Given the description of an element on the screen output the (x, y) to click on. 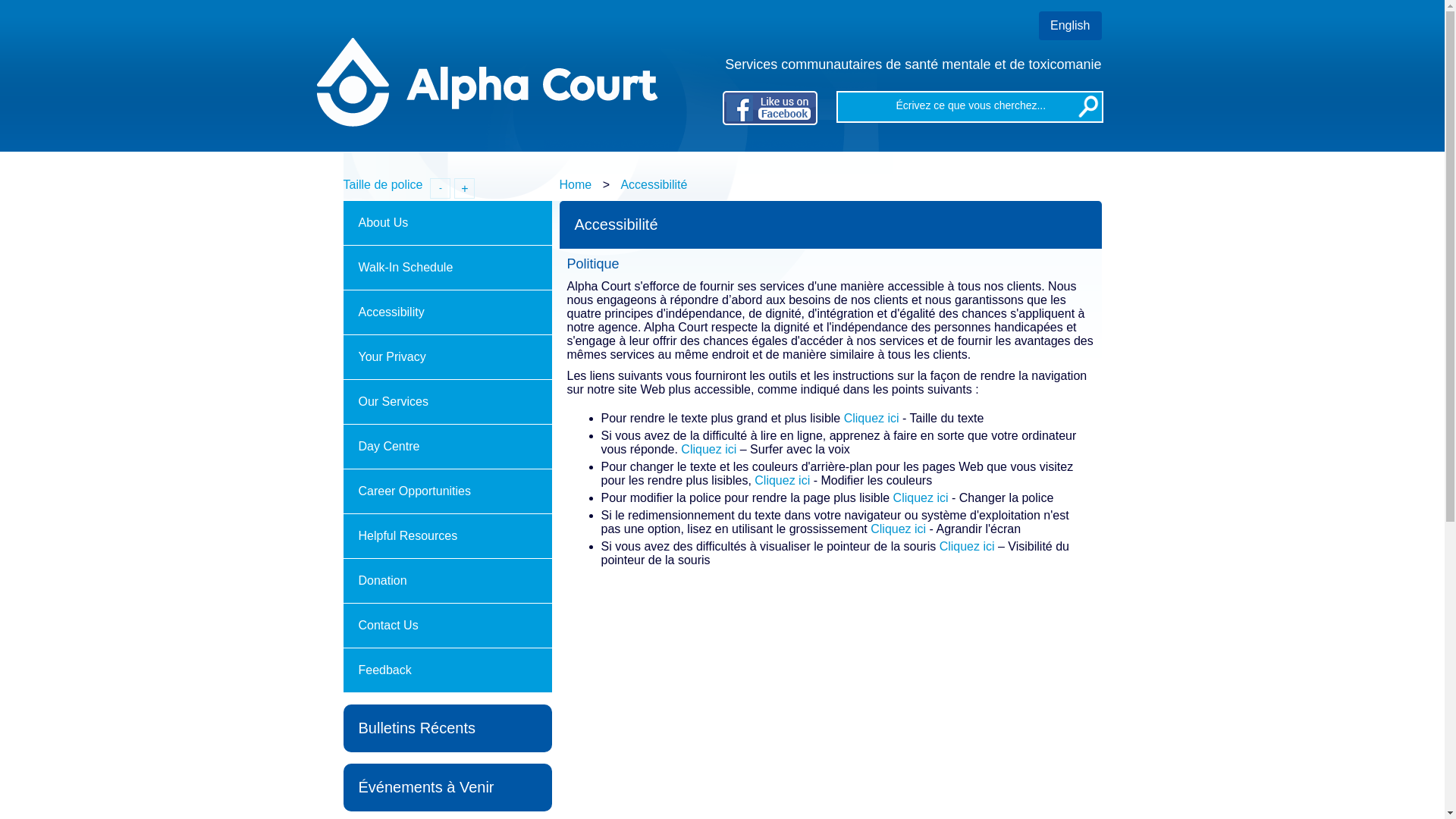
Feedback Element type: text (446, 670)
Cliquez ici Element type: text (781, 479)
Cliquez ici Element type: text (871, 417)
Cliquez ici Element type: text (966, 545)
Accessibility Element type: text (446, 312)
Helpful Resources Element type: text (446, 536)
About Us  Element type: text (446, 222)
Cliquez ici Element type: text (897, 528)
Career Opportunities  Element type: text (446, 491)
Cliquez ici Element type: text (708, 448)
+ Element type: text (464, 188)
Cliquez ici Element type: text (920, 497)
Our Services  Element type: text (446, 401)
Day Centre  Element type: text (446, 446)
Your Privacy Element type: text (446, 357)
- Element type: text (439, 188)
English Element type: text (1069, 25)
Walk-In Schedule Element type: text (446, 267)
Donation Element type: text (446, 580)
Contact Us Element type: text (446, 625)
Home Element type: text (575, 184)
